Given the description of an element on the screen output the (x, y) to click on. 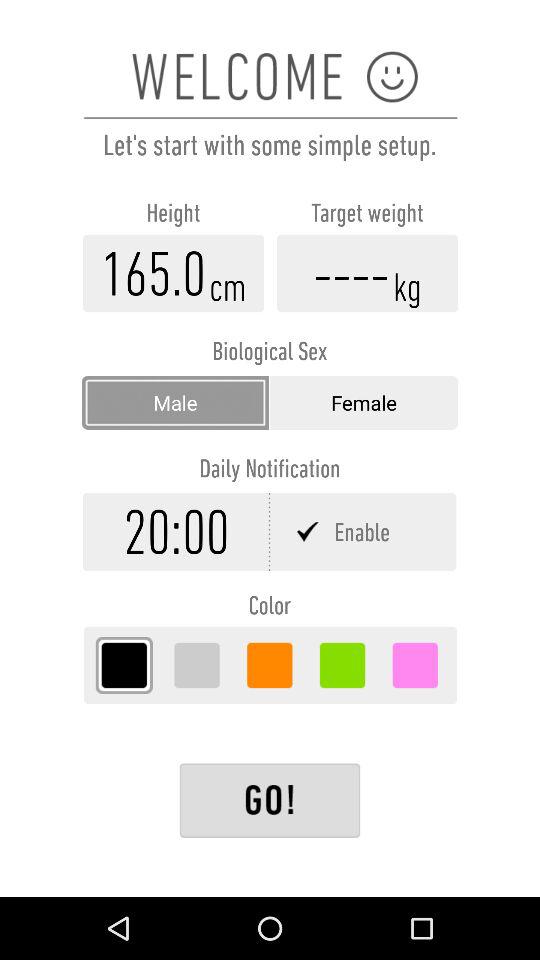
change time of daily notification (176, 531)
